Given the description of an element on the screen output the (x, y) to click on. 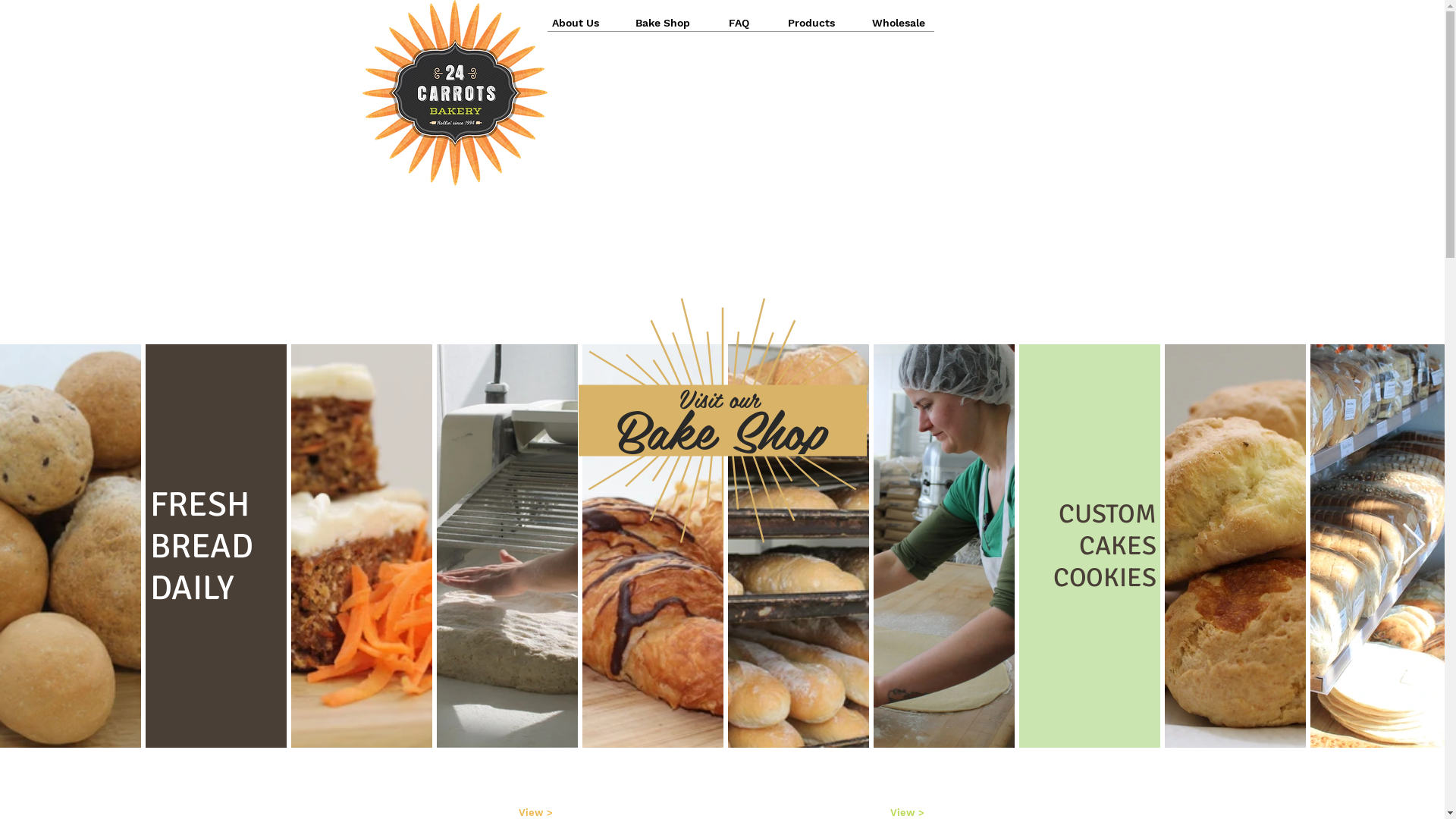
FAQ Element type: text (738, 22)
Wholesale Element type: text (898, 23)
Bake Shop Element type: text (662, 23)
About Us Element type: text (575, 23)
